Given the description of an element on the screen output the (x, y) to click on. 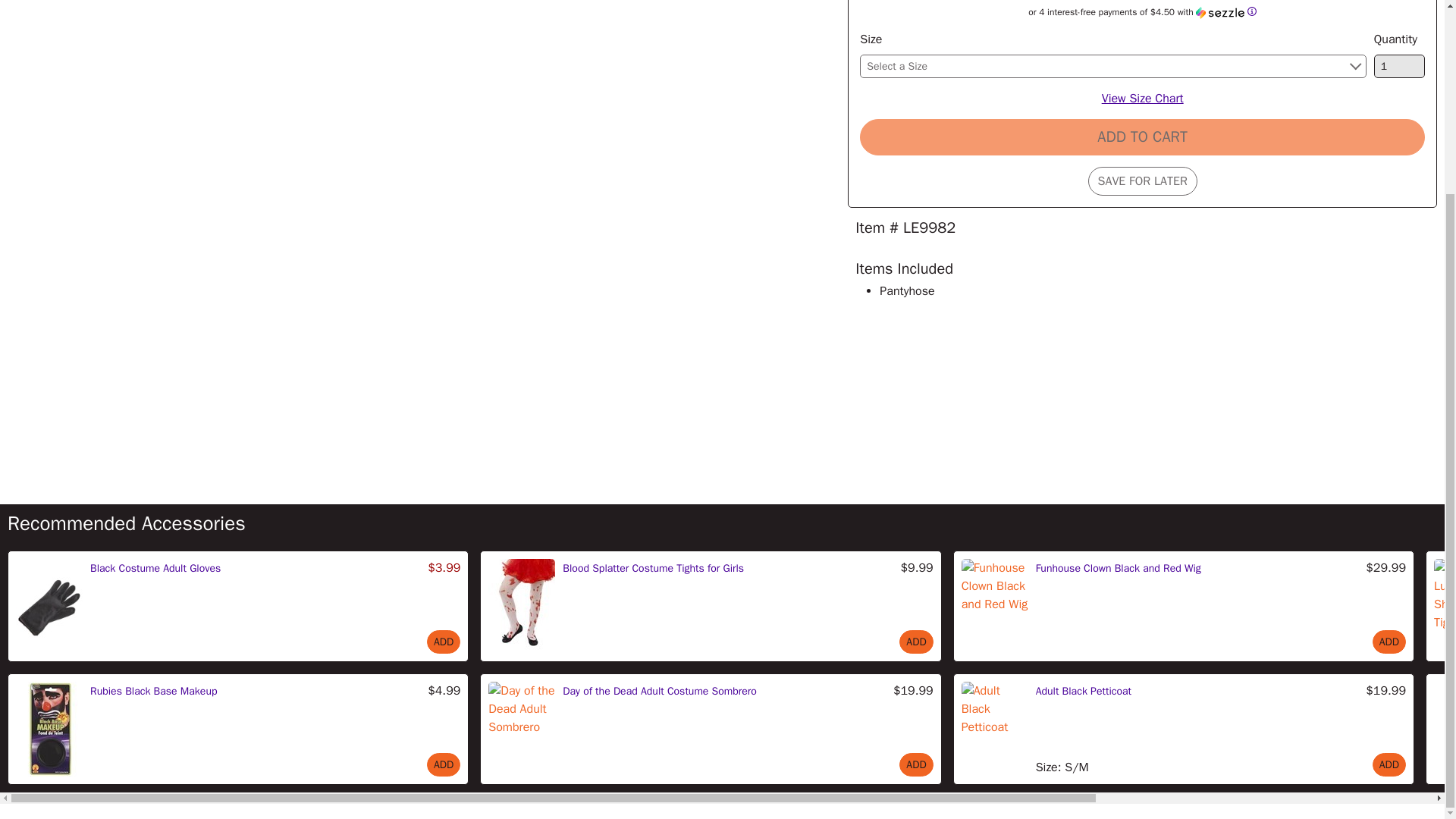
Black Costume Adult Gloves (155, 567)
Day of the Dead Adult Costume Sombrero (659, 690)
1 (1399, 65)
Rubies Black Base Makeup (153, 690)
Funhouse Clown Black and Red Wig (1118, 567)
Adult Black Petticoat (1083, 690)
Blood Splatter Costume Tights for Girls (653, 567)
